Given the description of an element on the screen output the (x, y) to click on. 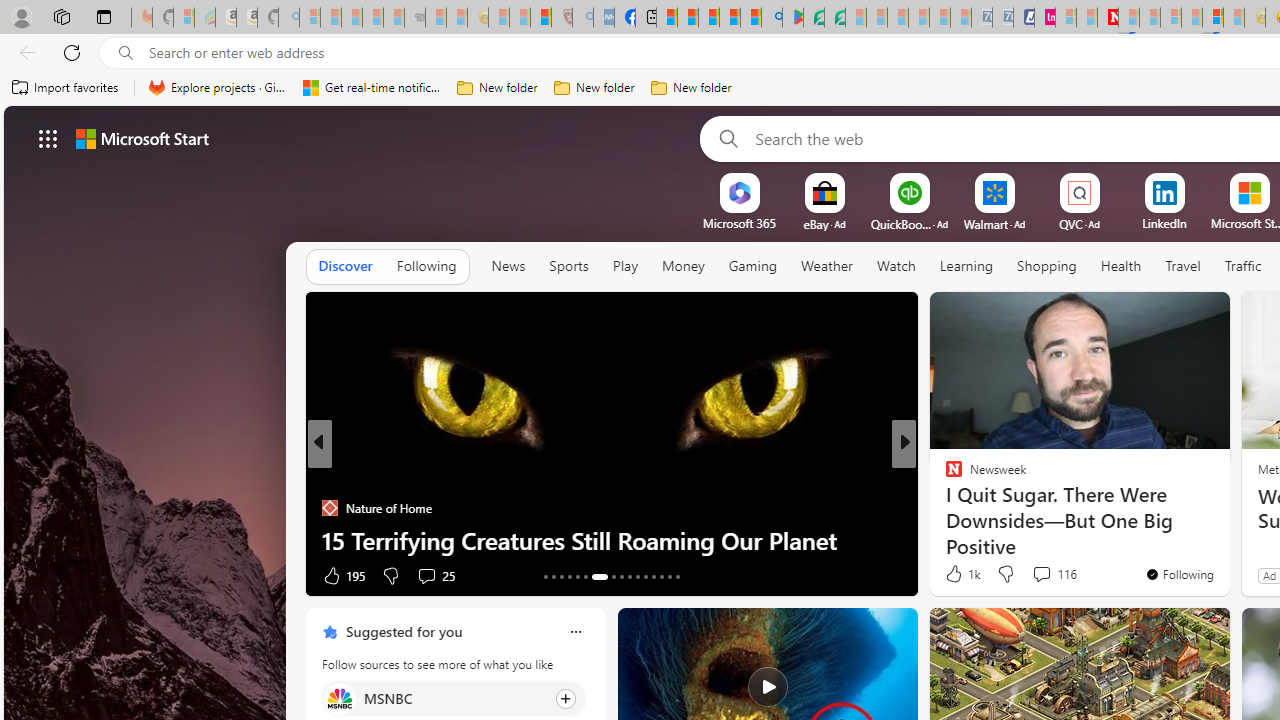
AutomationID: tab-16 (568, 576)
Shopping (1047, 265)
AutomationID: tab-20 (613, 576)
Weather (826, 265)
View comments 18 Comment (1051, 574)
Dislike (1005, 574)
View comments 116 Comment (1053, 574)
Jobs - lastminute.com Investor Portal (1044, 17)
